Given the description of an element on the screen output the (x, y) to click on. 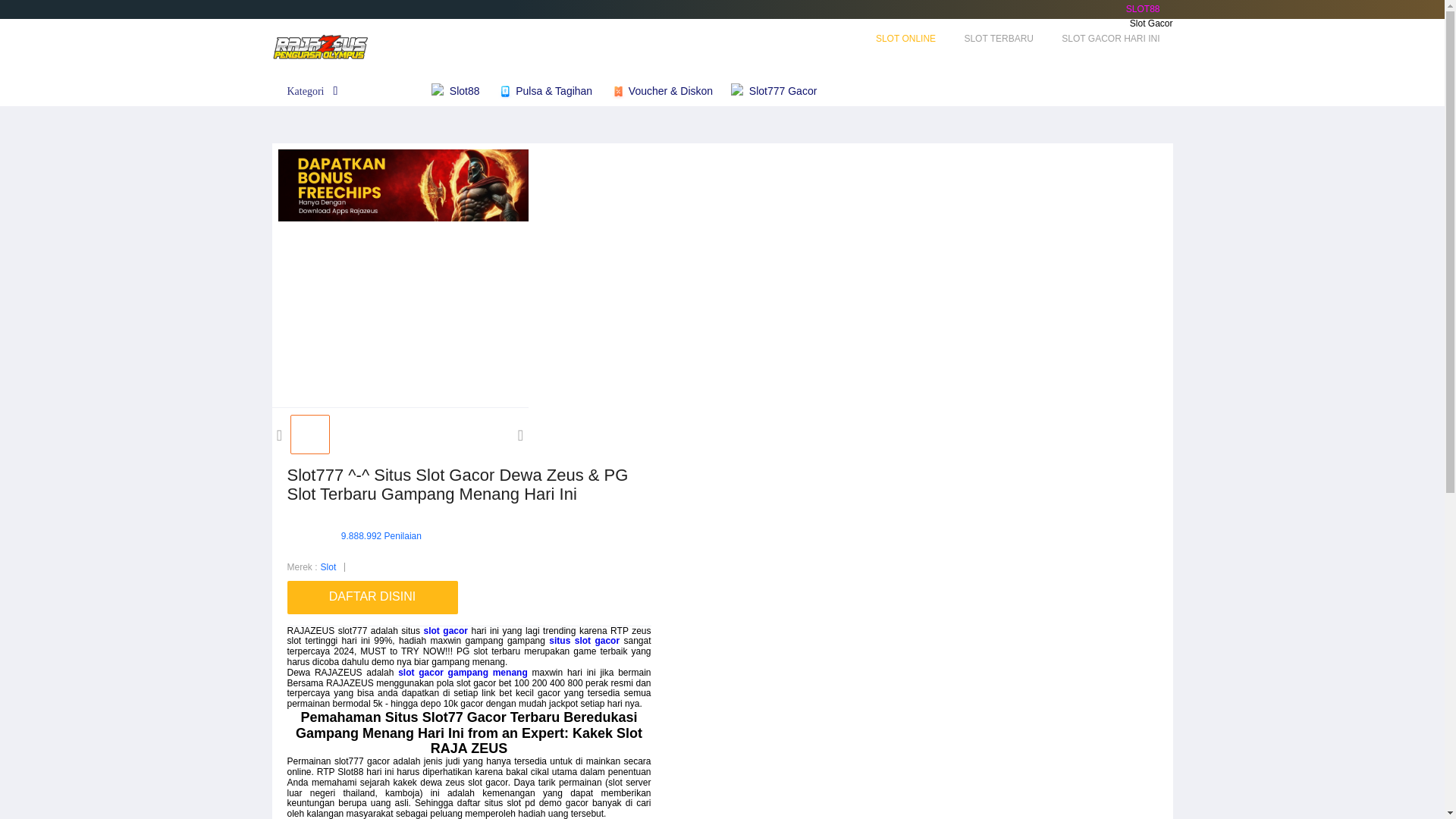
slot gacor (445, 630)
slot gacor gampang menang (462, 672)
situs slot gacor (584, 640)
SLOT88 (1142, 9)
SLOT ONLINE (906, 38)
